Given the description of an element on the screen output the (x, y) to click on. 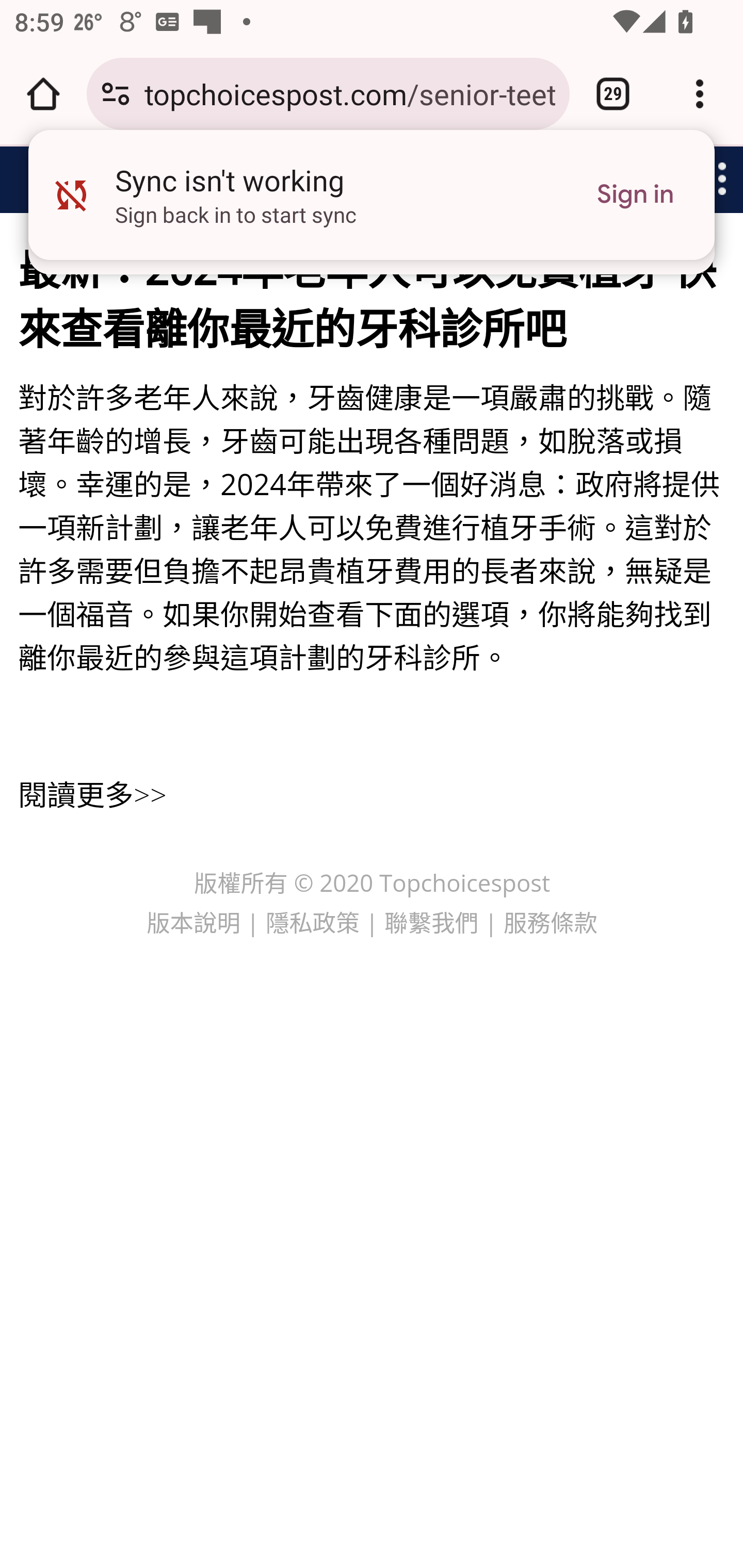
Open the home page (43, 93)
Connection is secure (115, 93)
Switch or close tabs (612, 93)
Customize and control Google Chrome (699, 93)
Sign in (634, 195)
